Given the description of an element on the screen output the (x, y) to click on. 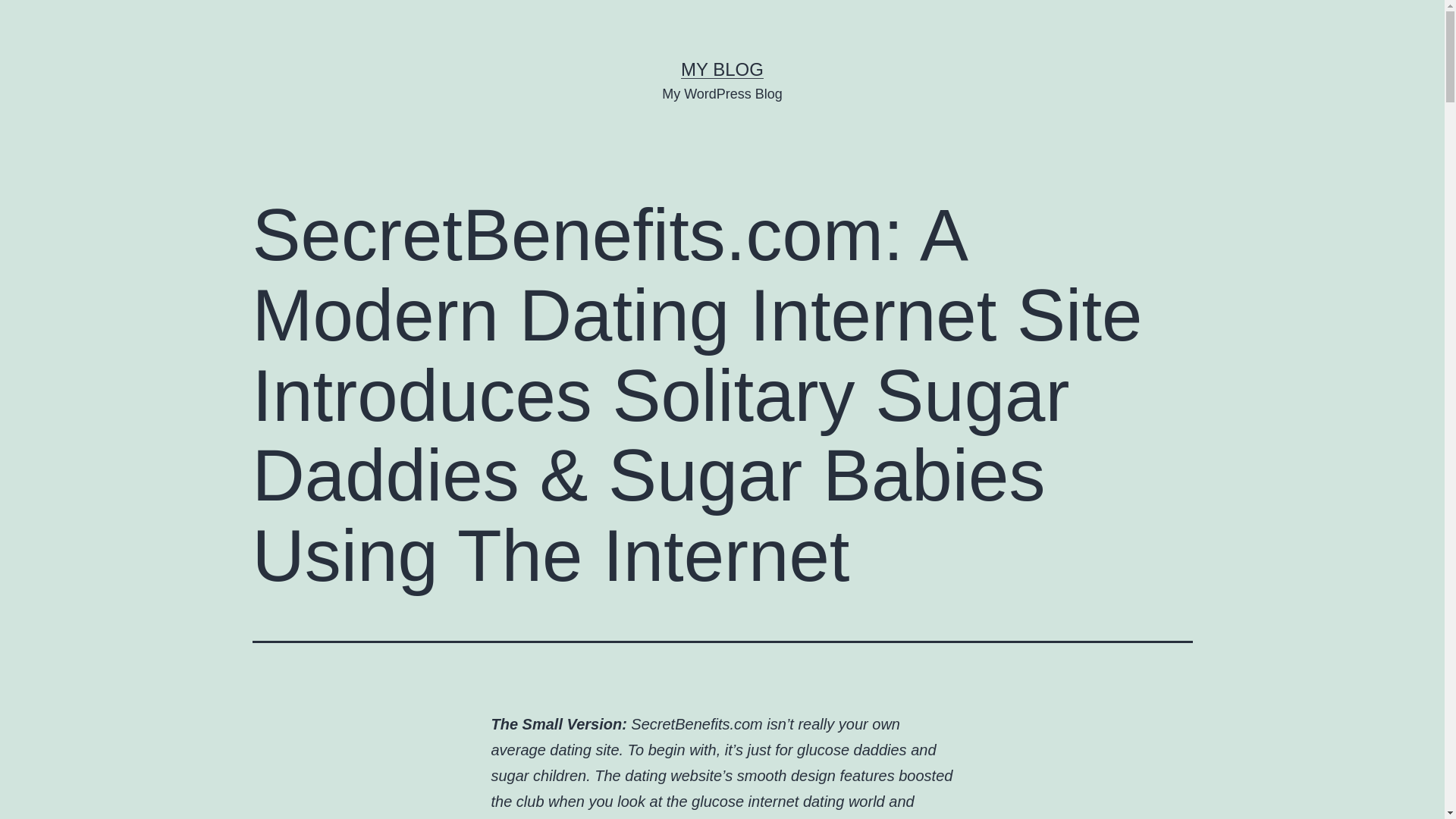
MY BLOG (721, 68)
